Given the description of an element on the screen output the (x, y) to click on. 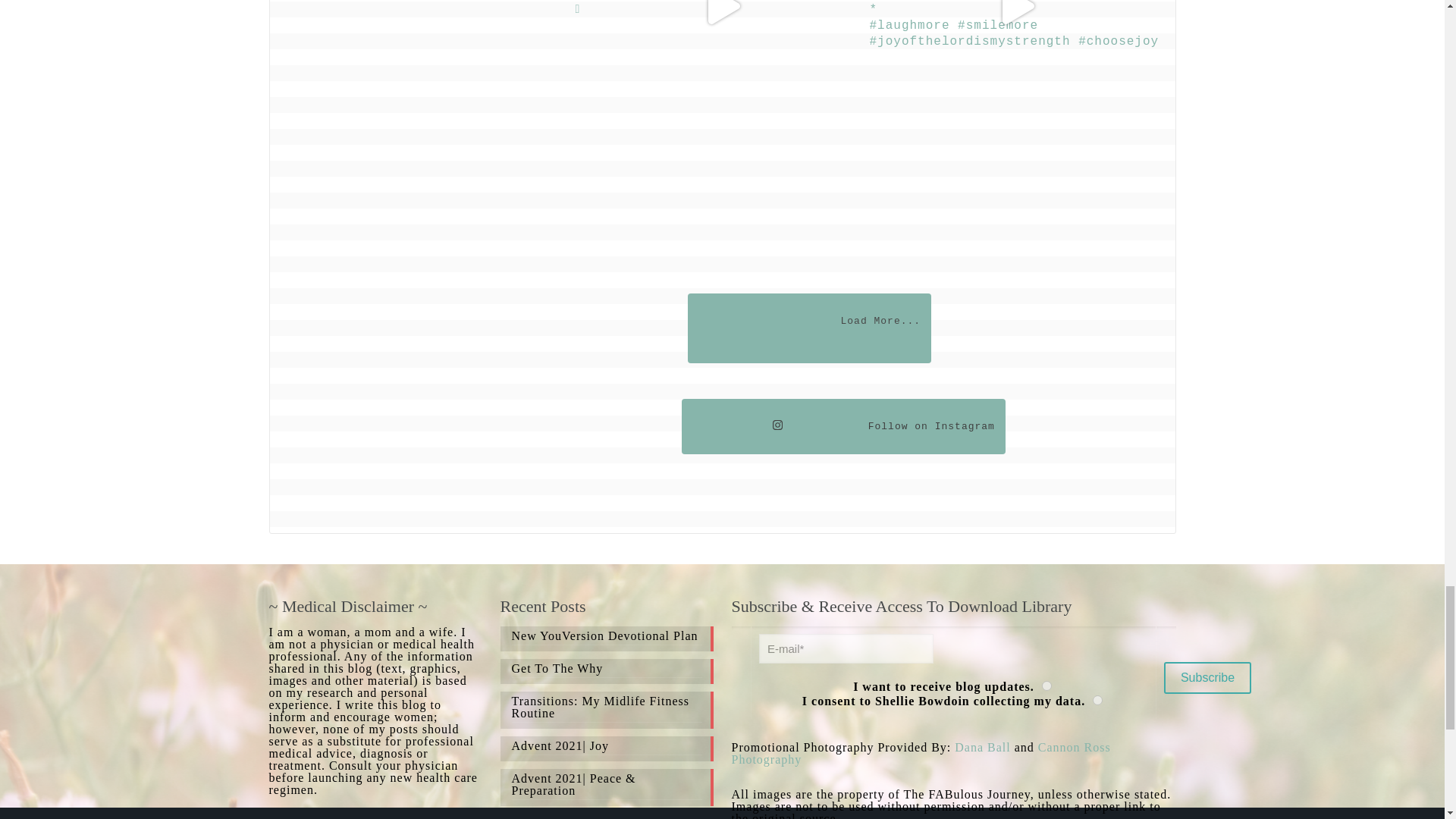
I Consent (809, 328)
Subscribe (1097, 700)
Yes (1206, 677)
